Given the description of an element on the screen output the (x, y) to click on. 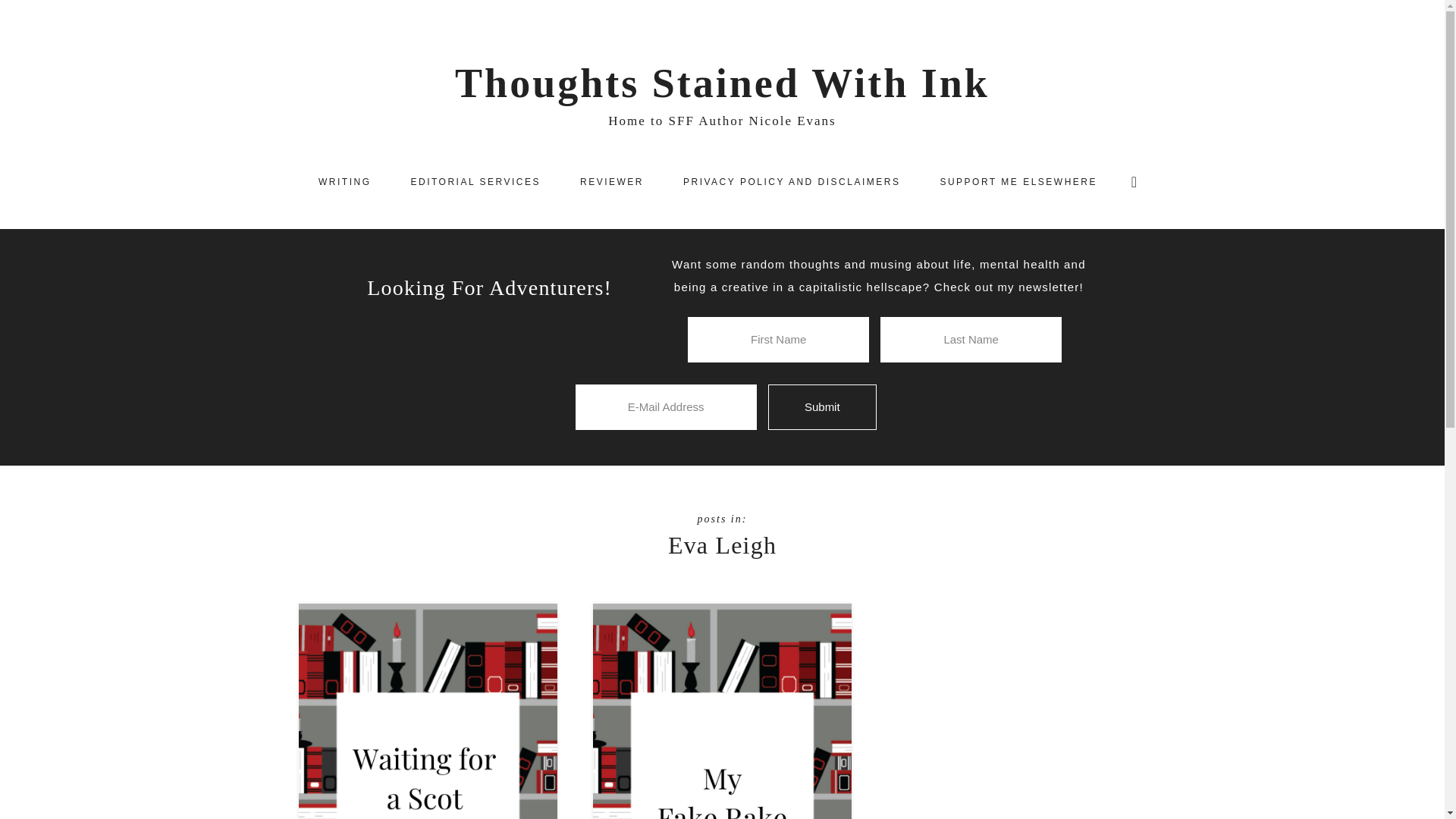
Thoughts Stained With Ink (722, 83)
REVIEWER (611, 182)
PRIVACY POLICY AND DISCLAIMERS (791, 182)
WRITING (344, 182)
EDITORIAL SERVICES (475, 182)
Submit (822, 407)
SUPPORT ME ELSEWHERE (1018, 182)
Submit (822, 407)
